Given the description of an element on the screen output the (x, y) to click on. 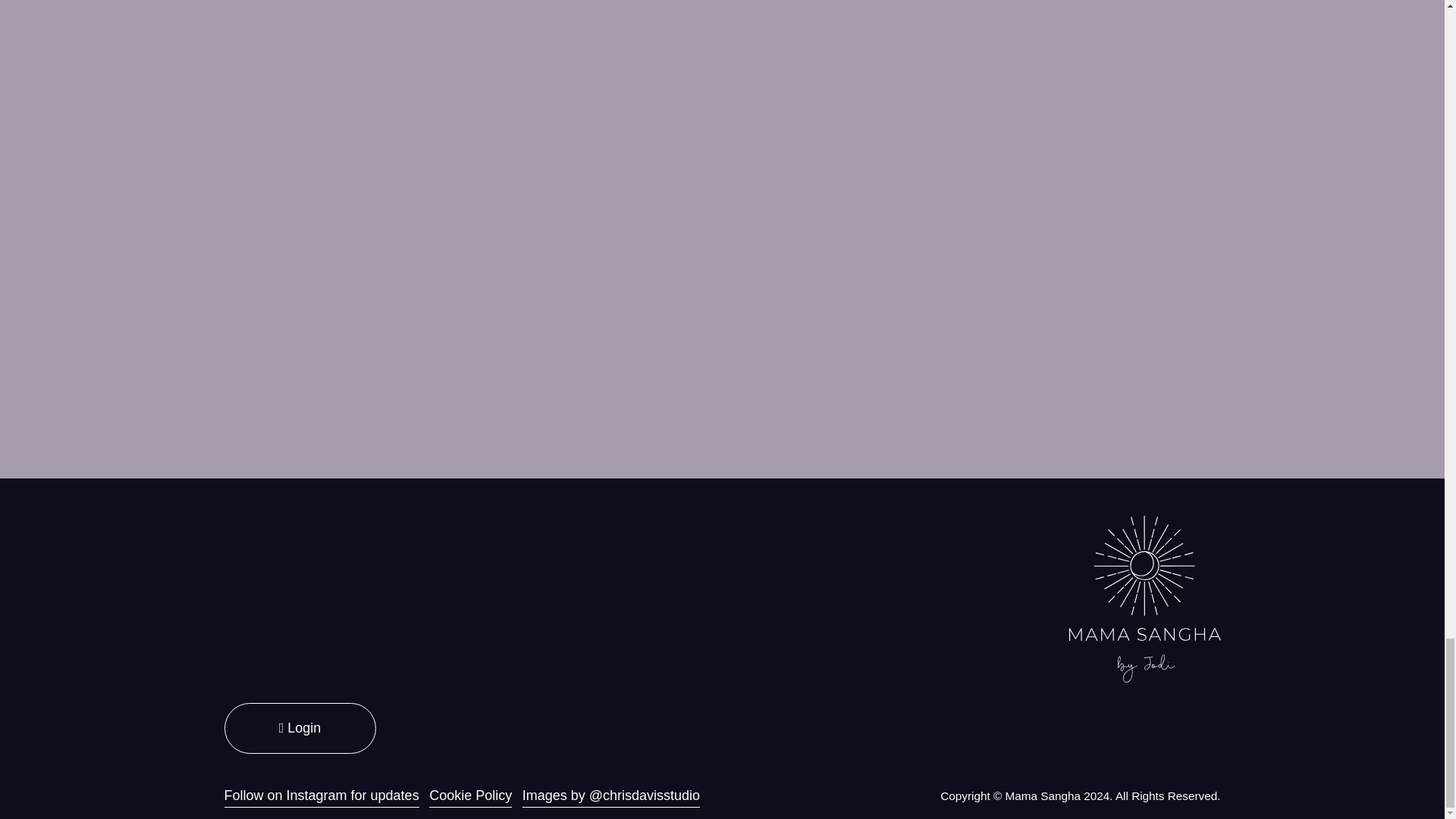
Login (299, 727)
Follow on Instagram for updates (321, 795)
Cookie Policy (470, 795)
